Given the description of an element on the screen output the (x, y) to click on. 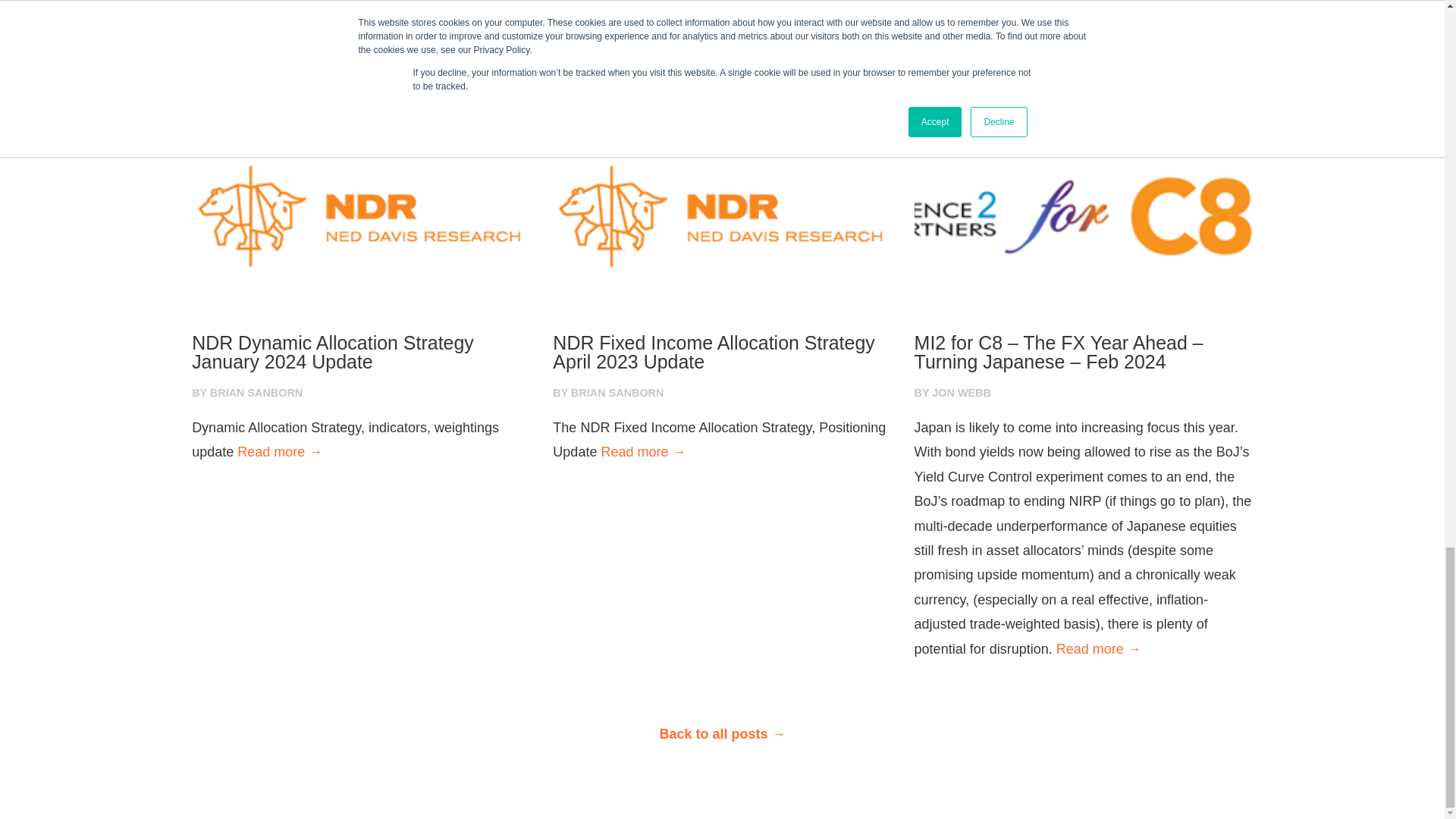
NDR Fixed Income Allocation Strategy April 2023 Update (722, 352)
NDR Dynamic Allocation Strategy January 2024 Update (360, 352)
